Given the description of an element on the screen output the (x, y) to click on. 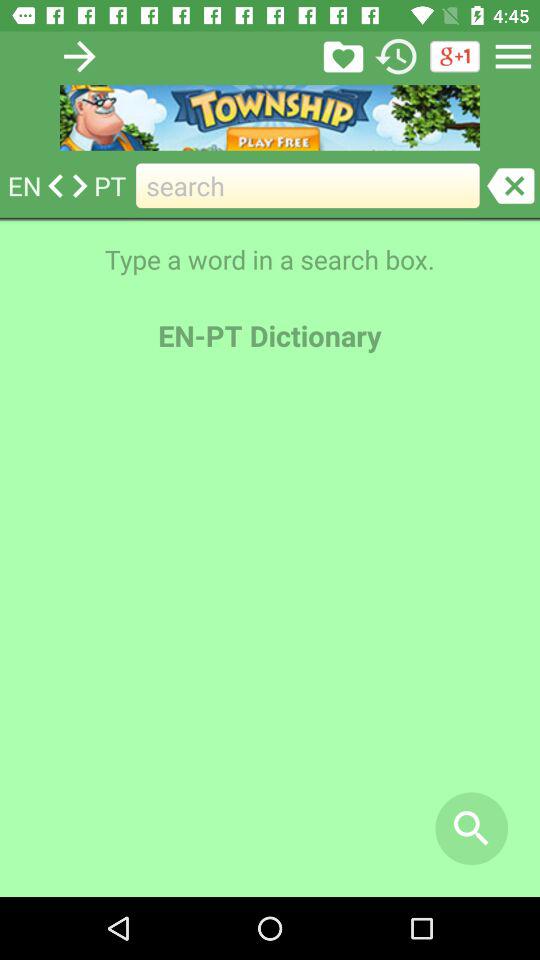
go forward (79, 56)
